Given the description of an element on the screen output the (x, y) to click on. 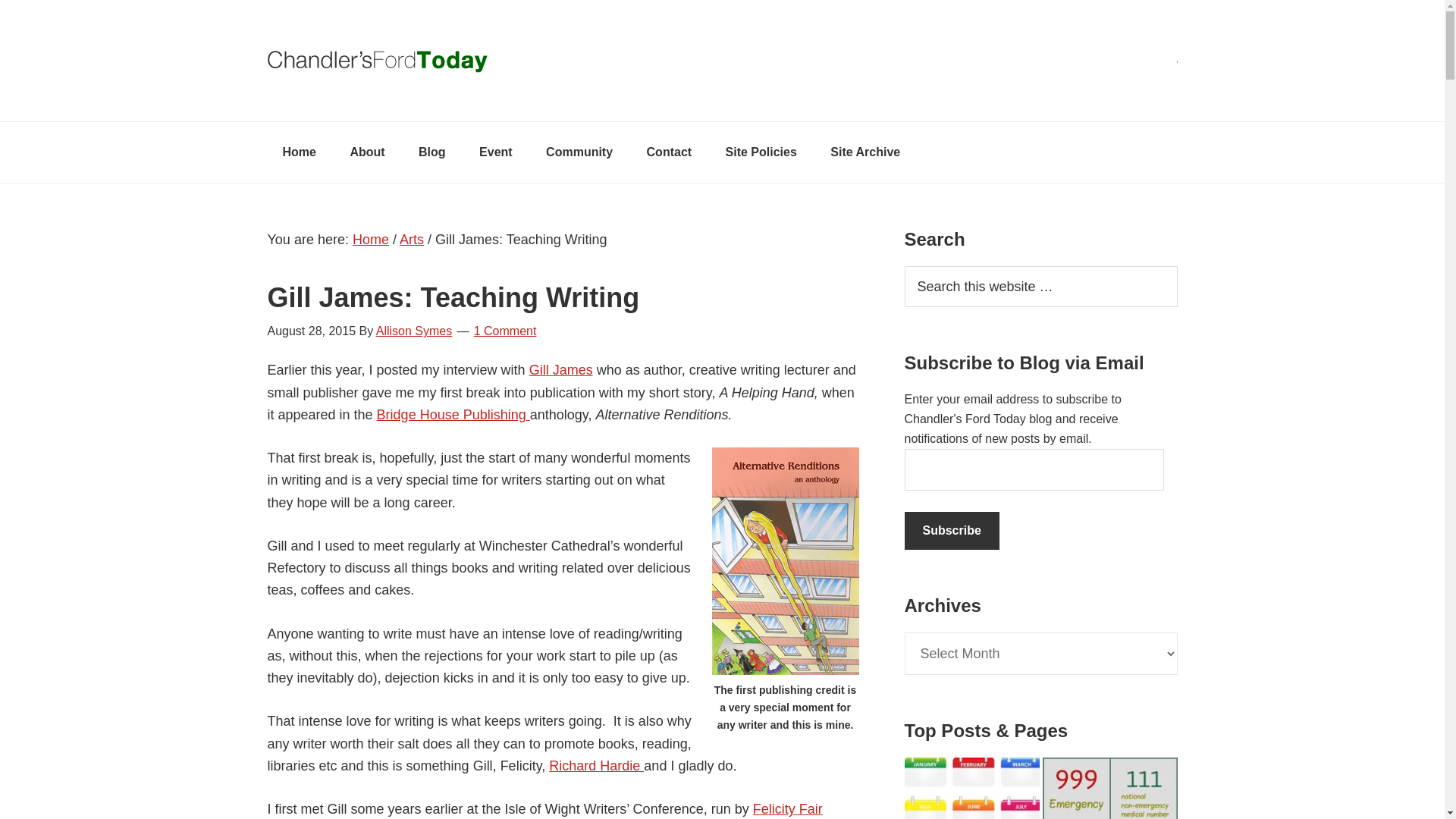
Richard Hardie (595, 765)
Community (579, 152)
Exciting community events (495, 152)
Home (370, 239)
Home (298, 152)
About (366, 152)
Arts (410, 239)
Site Archive (865, 152)
1 Comment (505, 330)
Event (495, 152)
Chandler's Ford Today (721, 60)
Blog (432, 152)
Site Policies (761, 152)
